Given the description of an element on the screen output the (x, y) to click on. 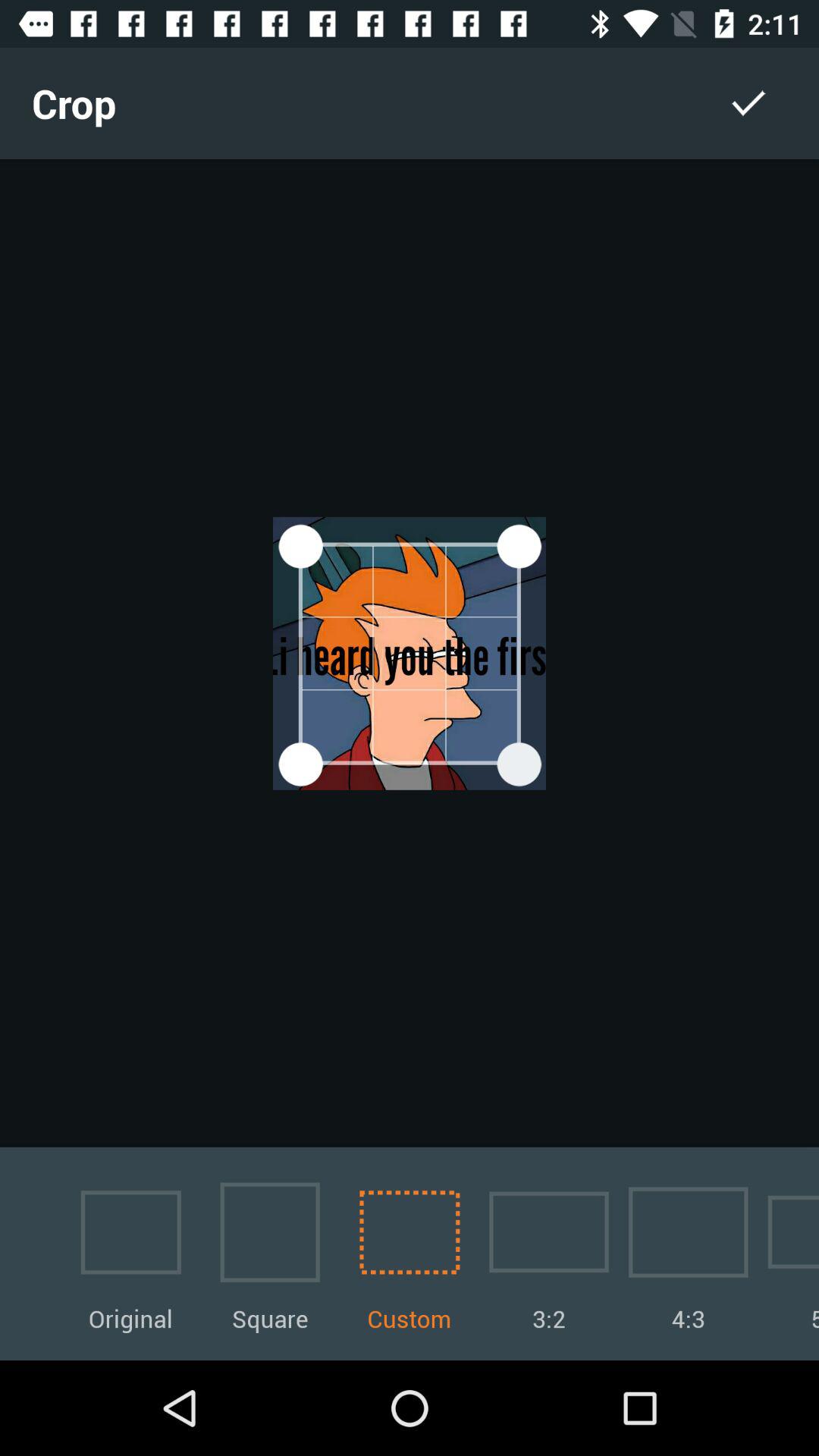
open the item to the right of the crop icon (748, 102)
